Given the description of an element on the screen output the (x, y) to click on. 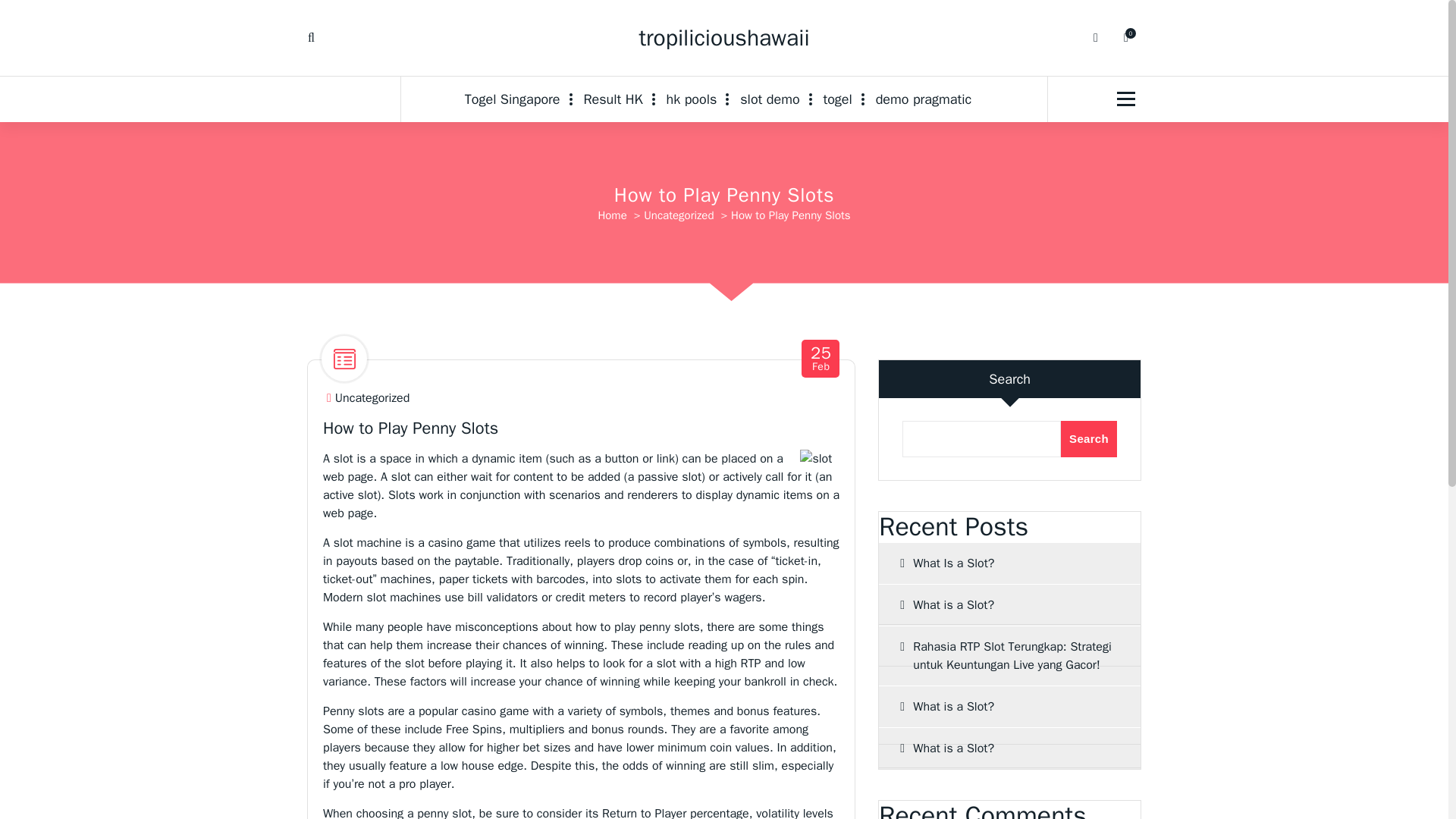
Result HK (611, 99)
What is a Slot? (1009, 706)
Uncategorized (678, 214)
slot demo (769, 99)
hk pools (691, 99)
tropilicioushawaii (724, 37)
Togel Singapore (518, 99)
demo pragmatic (923, 99)
togel (836, 99)
Search (1088, 438)
slot demo (769, 99)
togel (836, 99)
Togel Singapore (820, 358)
What is a Slot? (518, 99)
